Given the description of an element on the screen output the (x, y) to click on. 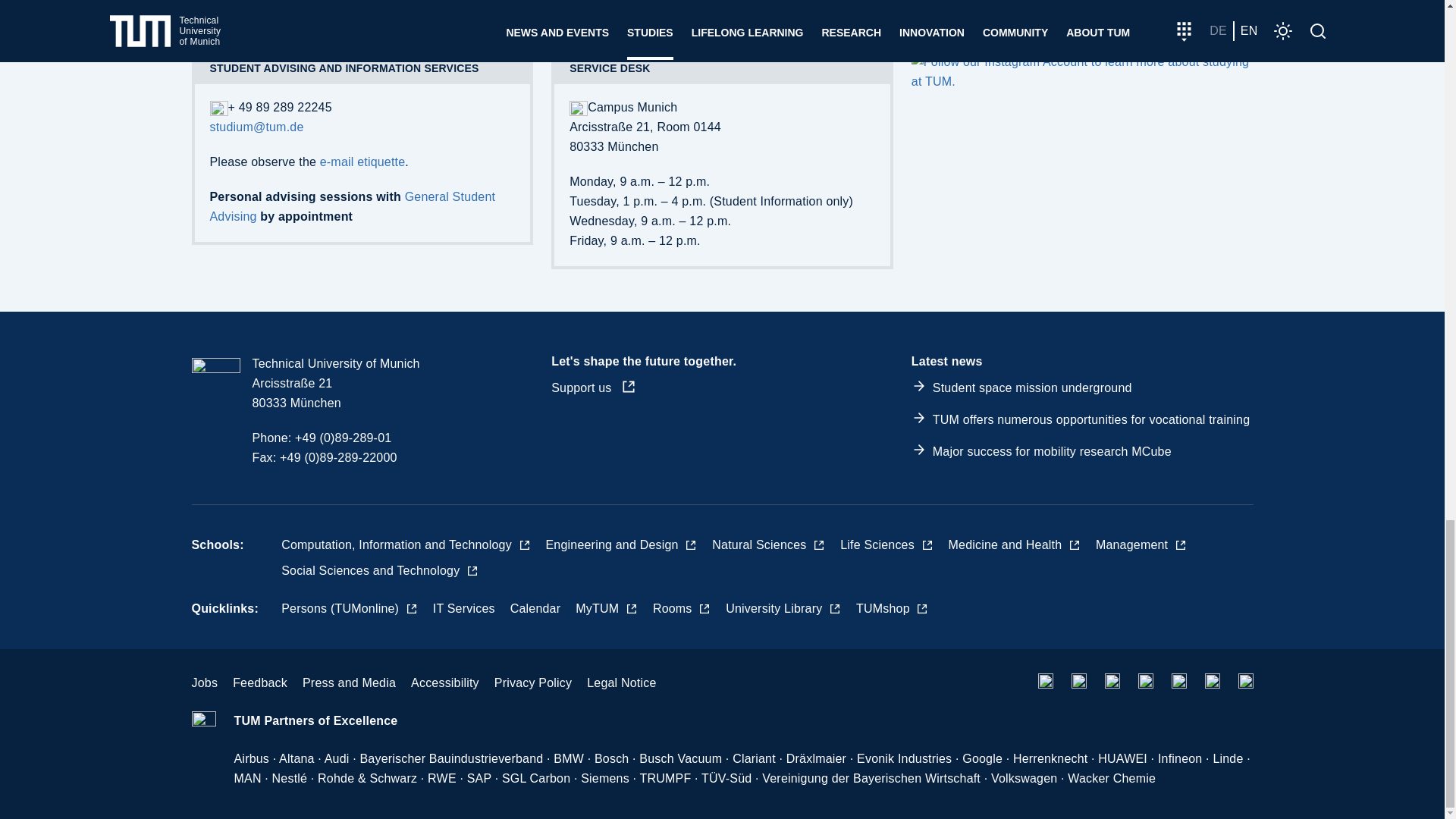
TUM offers numerous opportunities for vocational training  (1091, 419)
Student space mission underground  (1032, 387)
Major success for mobility research MCube (1052, 451)
